Given the description of an element on the screen output the (x, y) to click on. 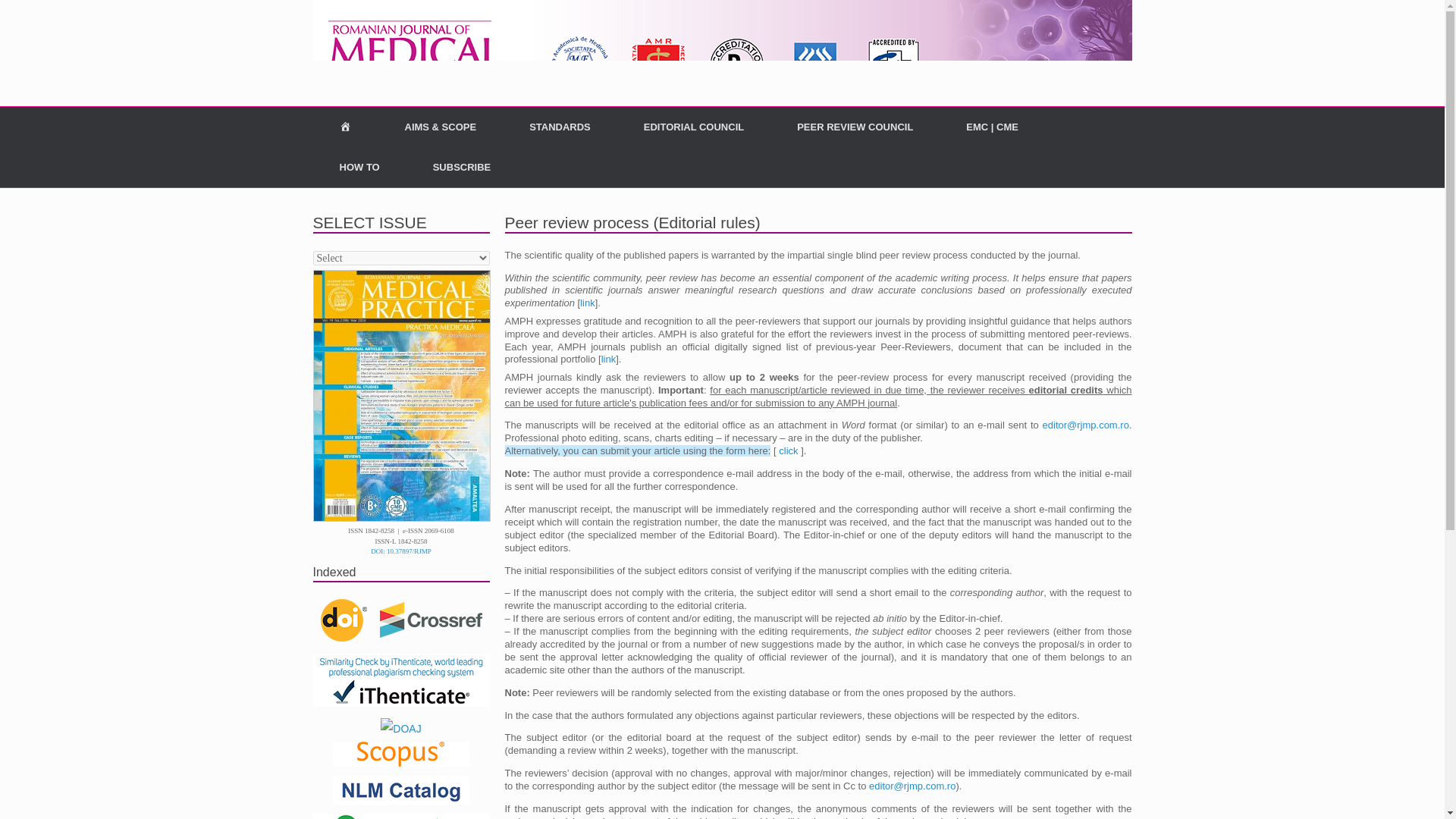
PEER REVIEW COUNCIL (854, 127)
link (608, 358)
click (787, 450)
HOME (345, 127)
link (587, 302)
EDITORIAL COUNCIL (693, 127)
Romanian Journal of Medical Practice (722, 53)
STANDARDS (559, 127)
HOW TO (359, 167)
SUBSCRIBE (462, 167)
